Given the description of an element on the screen output the (x, y) to click on. 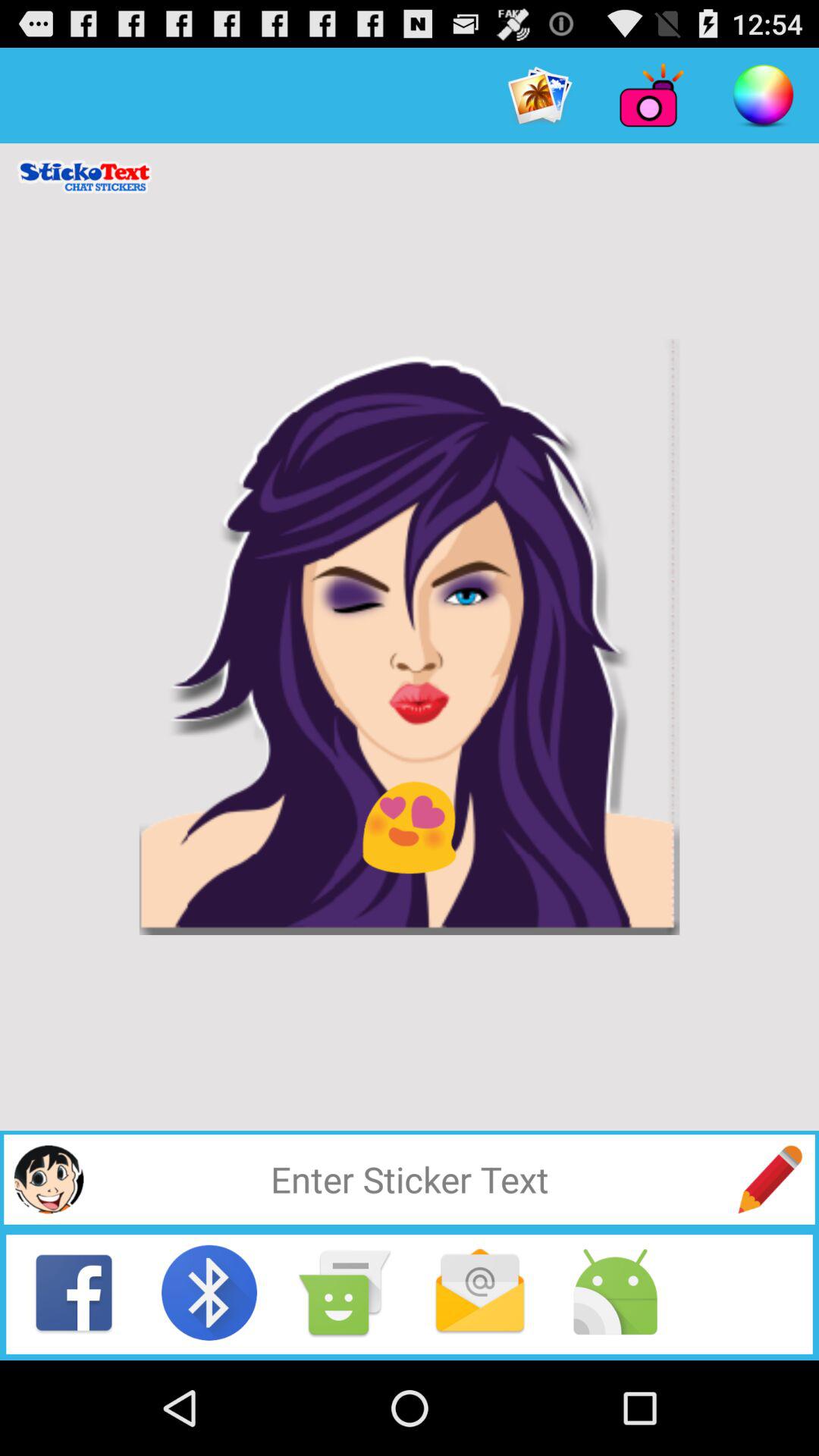
used to find a favorite sticker (409, 1179)
